Given the description of an element on the screen output the (x, y) to click on. 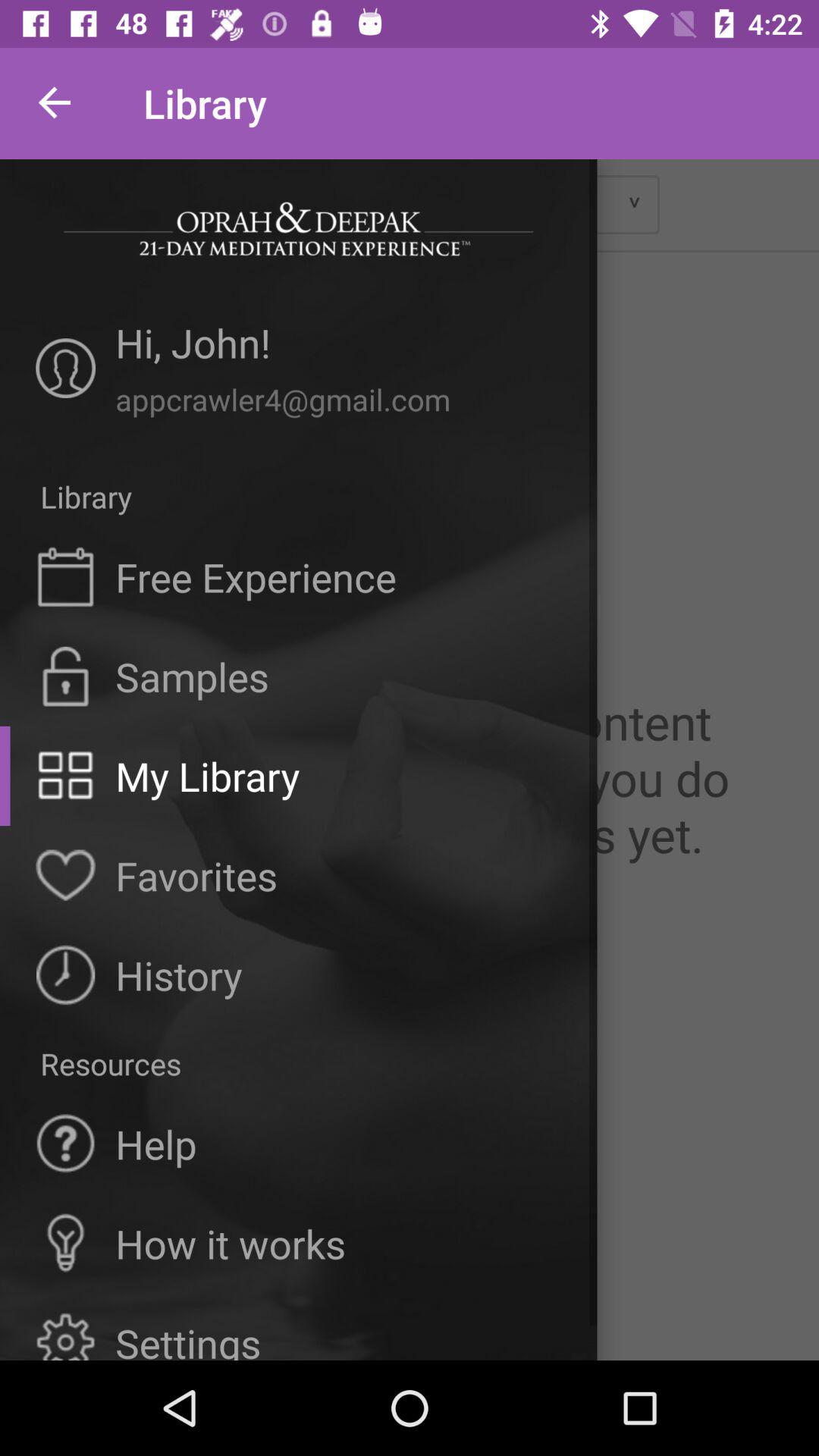
choose the history (178, 974)
